Given the description of an element on the screen output the (x, y) to click on. 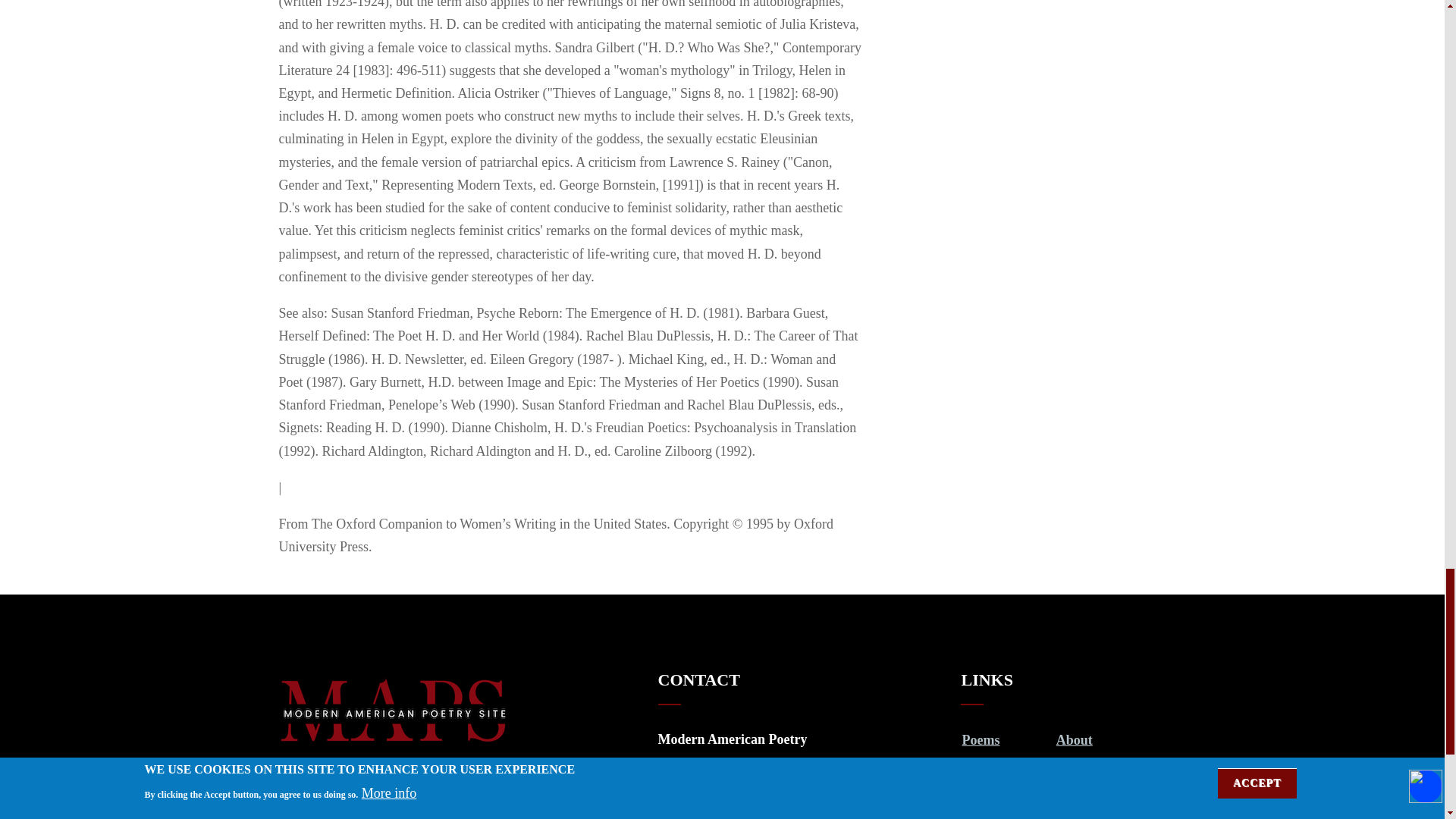
About (1075, 739)
Criticism (988, 800)
FAQs (1073, 765)
Poetry (980, 765)
Poems (979, 739)
